Given the description of an element on the screen output the (x, y) to click on. 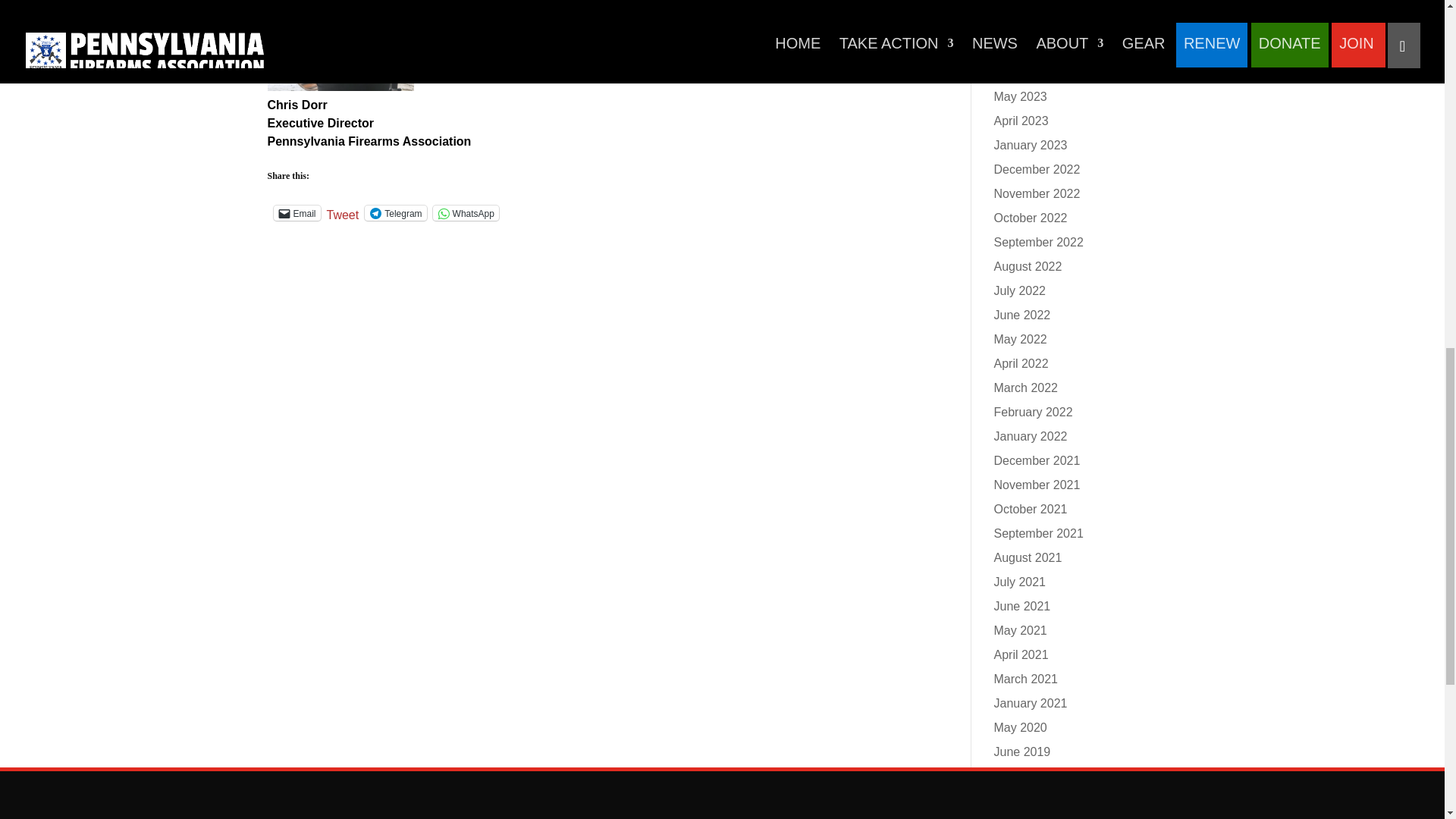
Click to share on WhatsApp (465, 212)
Click to email a link to a friend (296, 212)
Tweet (342, 212)
Email (296, 212)
March 2024 (1025, 47)
WhatsApp (465, 212)
April 2024 (1020, 23)
Click to share on Telegram (395, 212)
Telegram (395, 212)
